Given the description of an element on the screen output the (x, y) to click on. 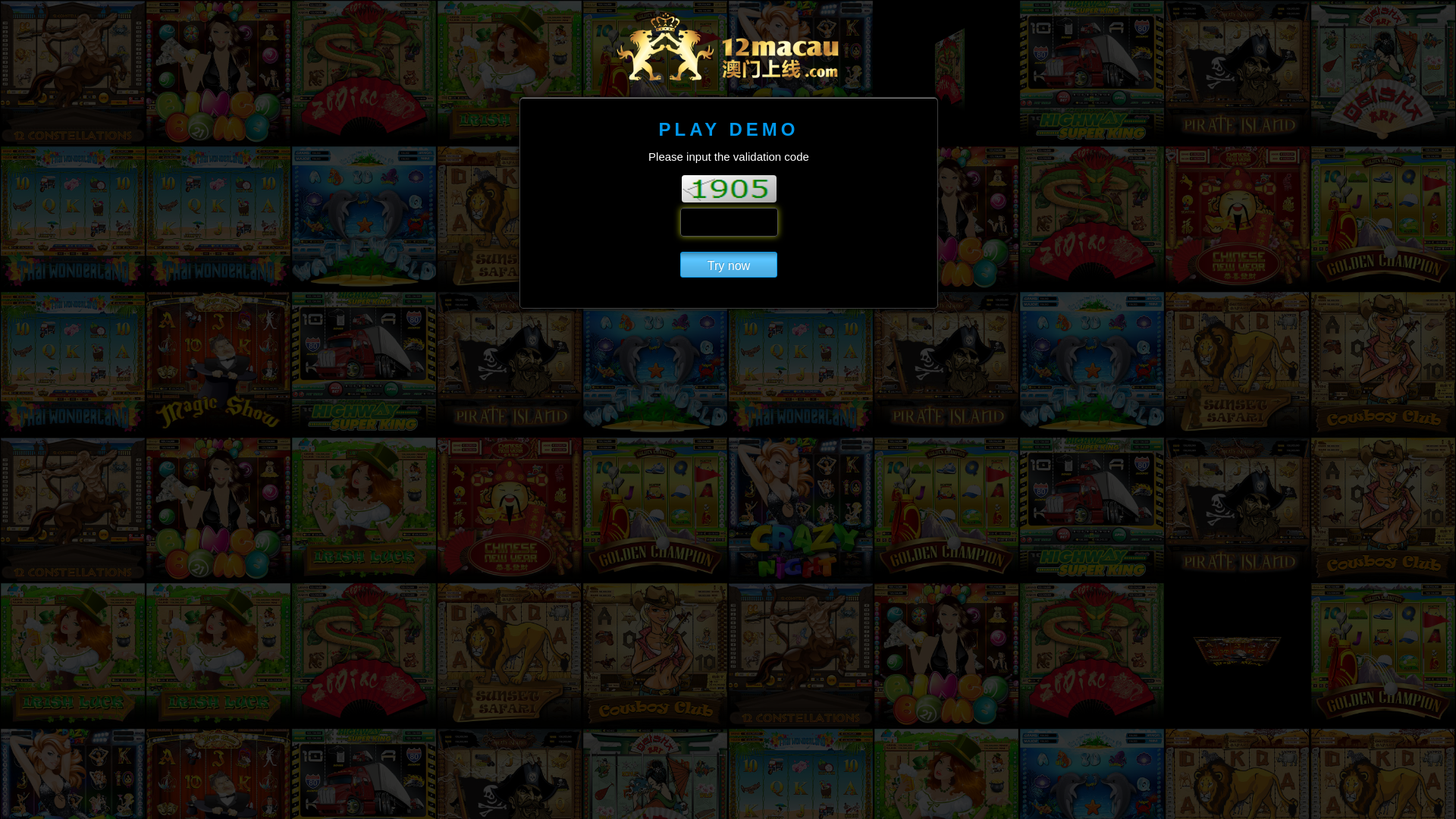
Try now Element type: text (728, 264)
